Given the description of an element on the screen output the (x, y) to click on. 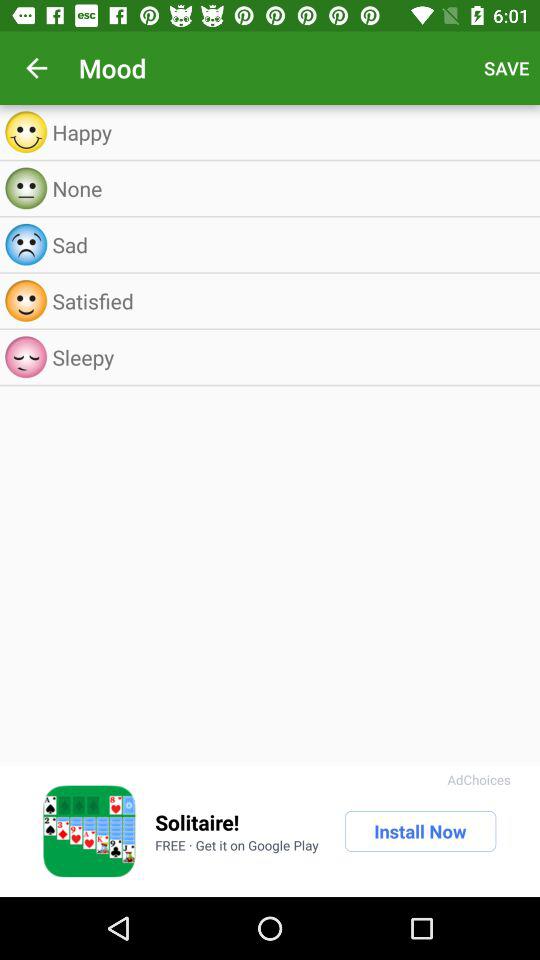
choose the icon next to mood item (36, 68)
